Given the description of an element on the screen output the (x, y) to click on. 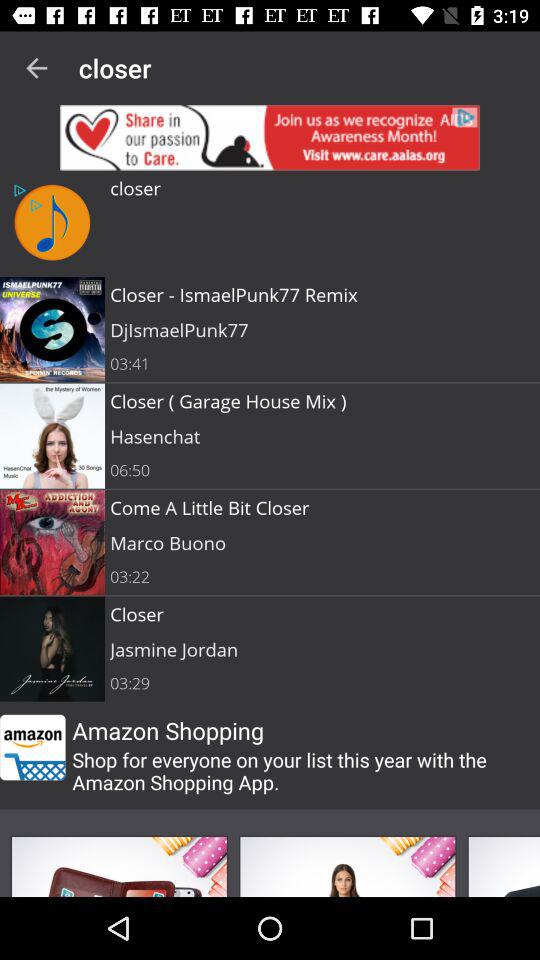
choose this icon (119, 866)
